Given the description of an element on the screen output the (x, y) to click on. 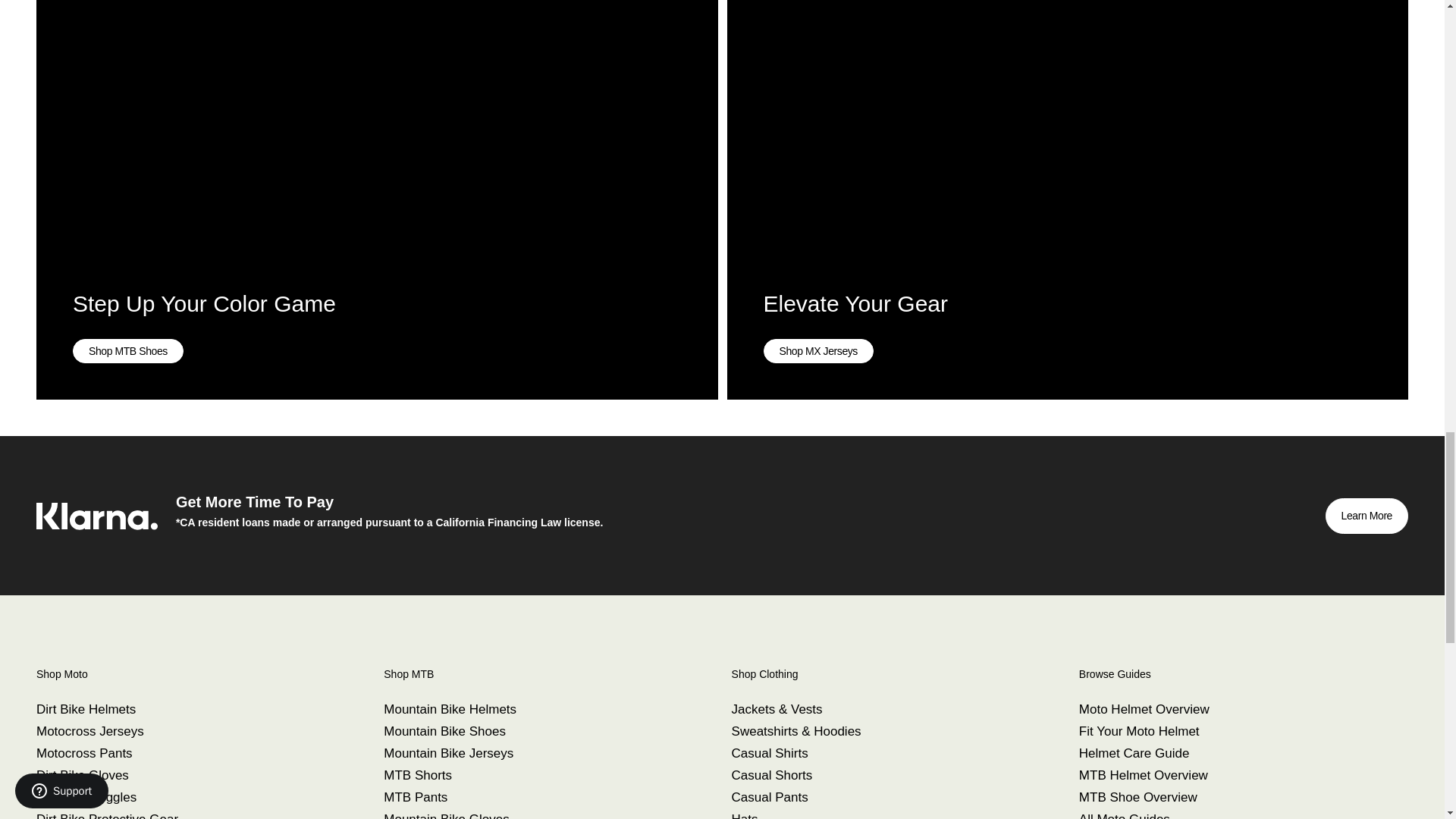
Shop Moto (196, 674)
Mountain Bike Shoes (444, 730)
Mountain Bike Gloves (446, 815)
Motocross Jerseys (90, 730)
Mountain Bike Jerseys (448, 753)
MTB Pants (415, 797)
MTB Shorts (417, 775)
Dirt Bike Helmets (85, 708)
Motocross Pants (84, 753)
Mountain Bike Helmets (450, 708)
Dirt Bike Goggles (86, 797)
Dirt Bike Gloves (82, 775)
Dirt Bike Protective Gear (106, 815)
